Given the description of an element on the screen output the (x, y) to click on. 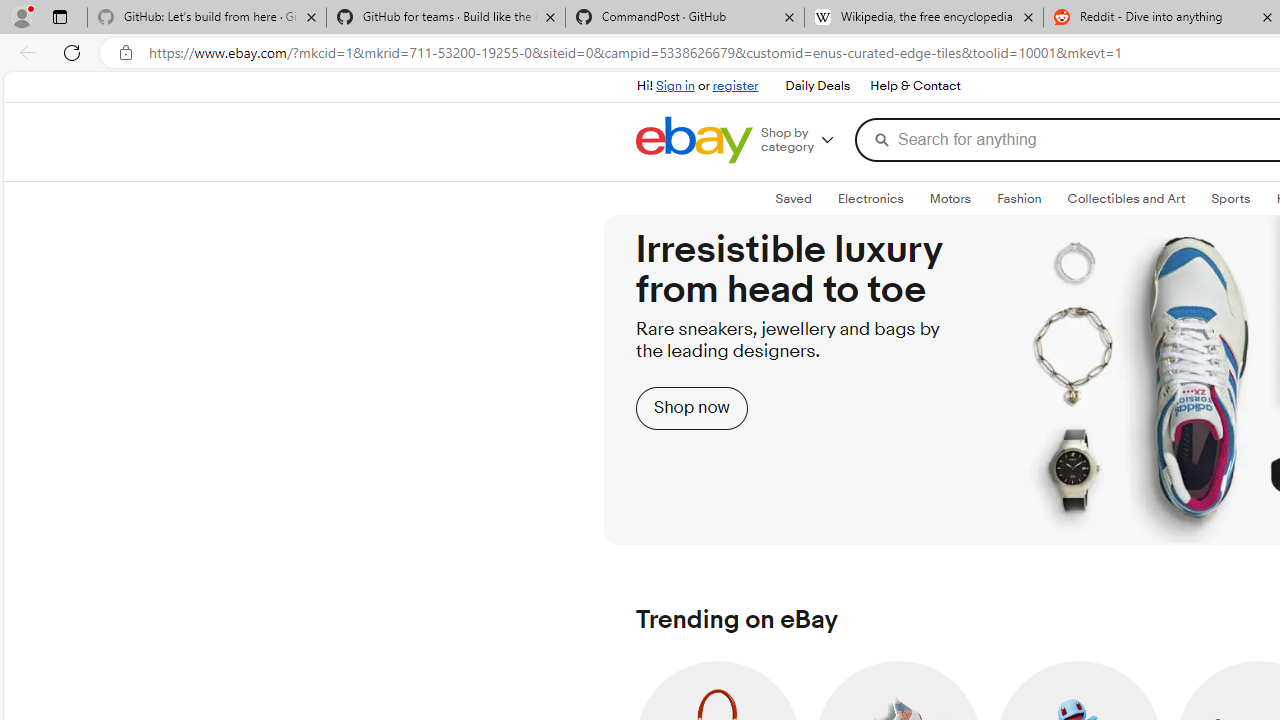
Saved (792, 198)
register (735, 85)
Daily Deals (817, 85)
SportsExpand: Sports (1231, 199)
MotorsExpand: Motors (950, 199)
ElectronicsExpand: Electronics (870, 199)
Wikipedia, the free encyclopedia (924, 17)
eBay Home (694, 139)
eBay Home (694, 139)
FashionExpand: Fashion (1019, 199)
